Given the description of an element on the screen output the (x, y) to click on. 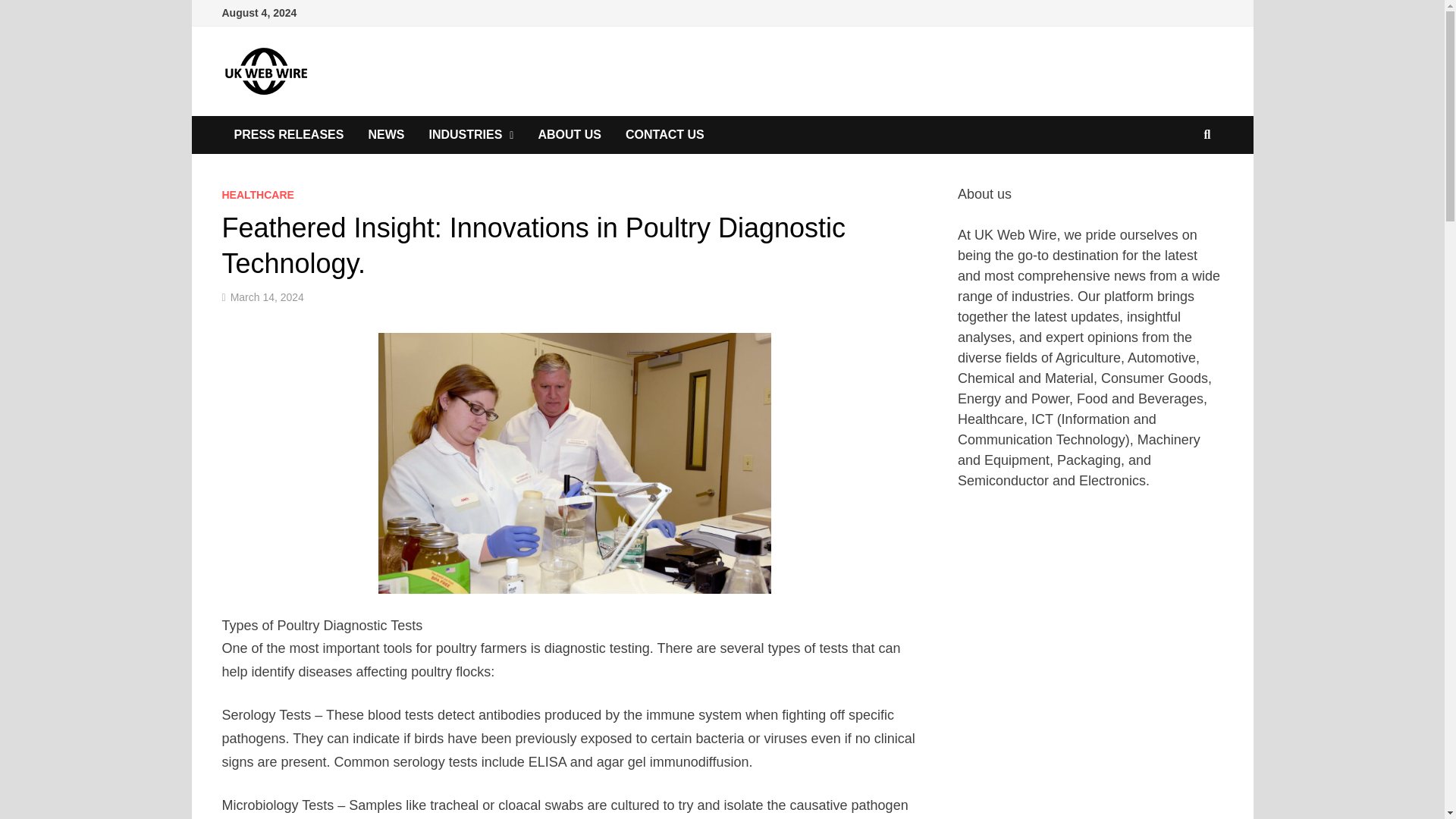
CONTACT US (664, 134)
NEWS (385, 134)
INDUSTRIES (470, 134)
PRESS RELEASES (288, 134)
HEALTHCARE (257, 194)
ABOUT US (568, 134)
